Given the description of an element on the screen output the (x, y) to click on. 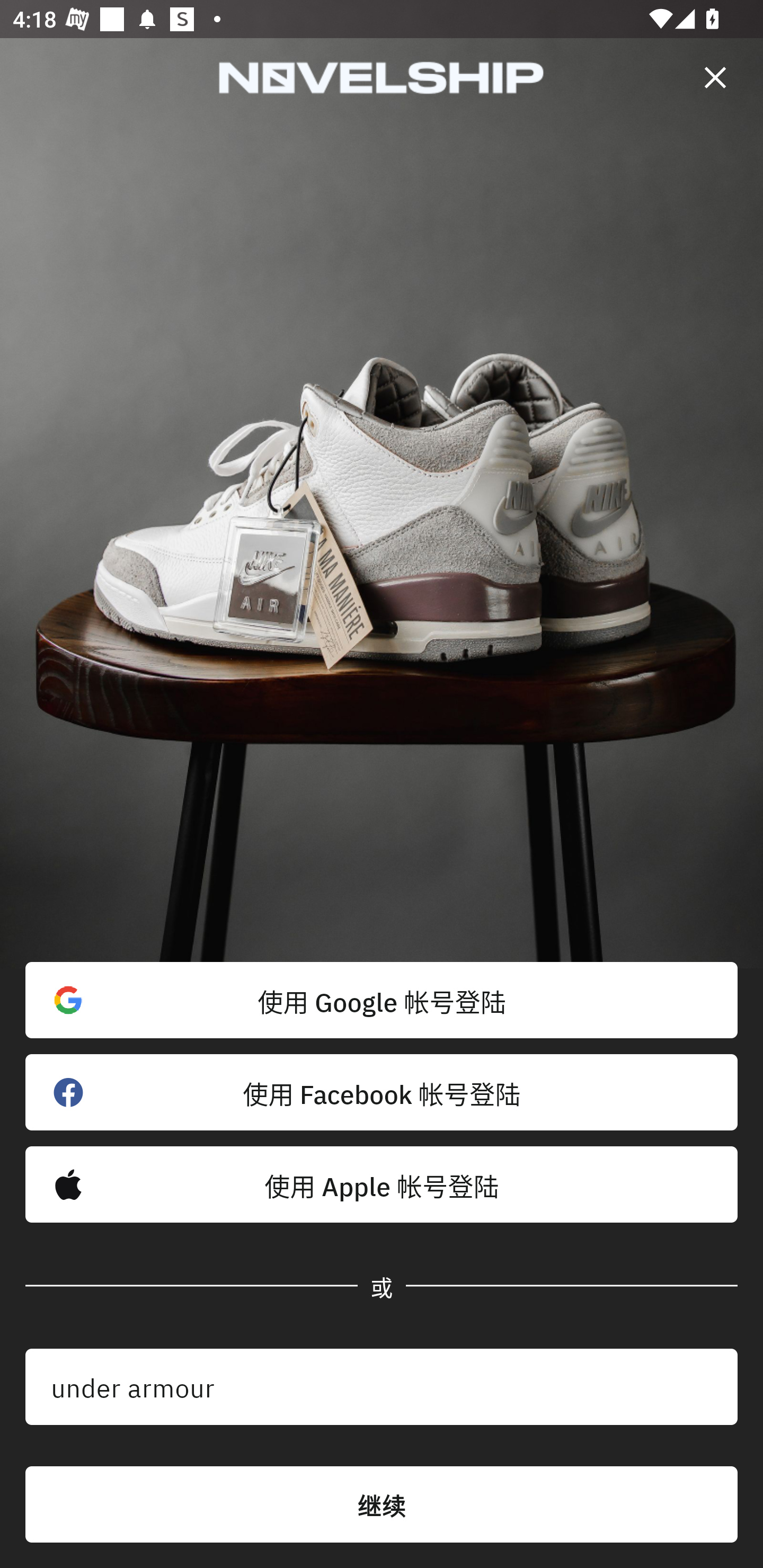
使用 Google 帐号登陆 (381, 1000)
使用 Facebook 帐号登陆 󰈌 (381, 1091)
 使用 Apple 帐号登陆 (381, 1184)
under armour (381, 1386)
继续 (381, 1504)
